Given the description of an element on the screen output the (x, y) to click on. 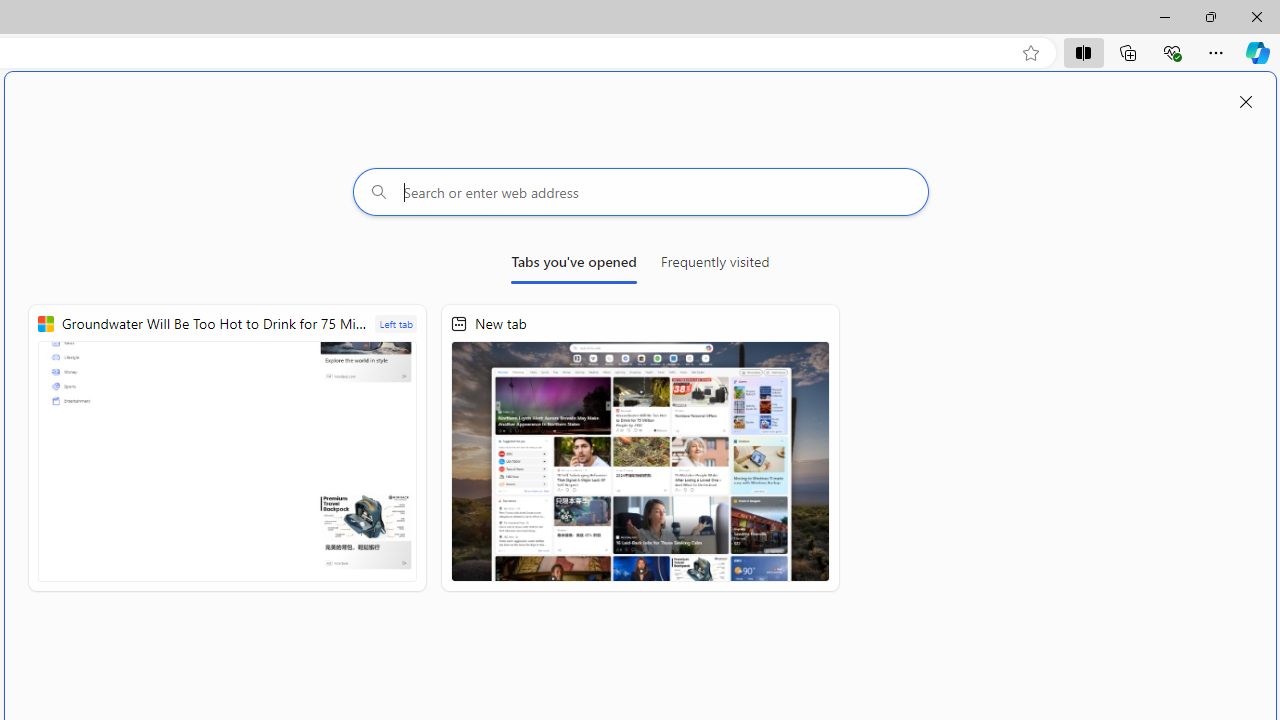
Search or enter web address (640, 191)
